Given the description of an element on the screen output the (x, y) to click on. 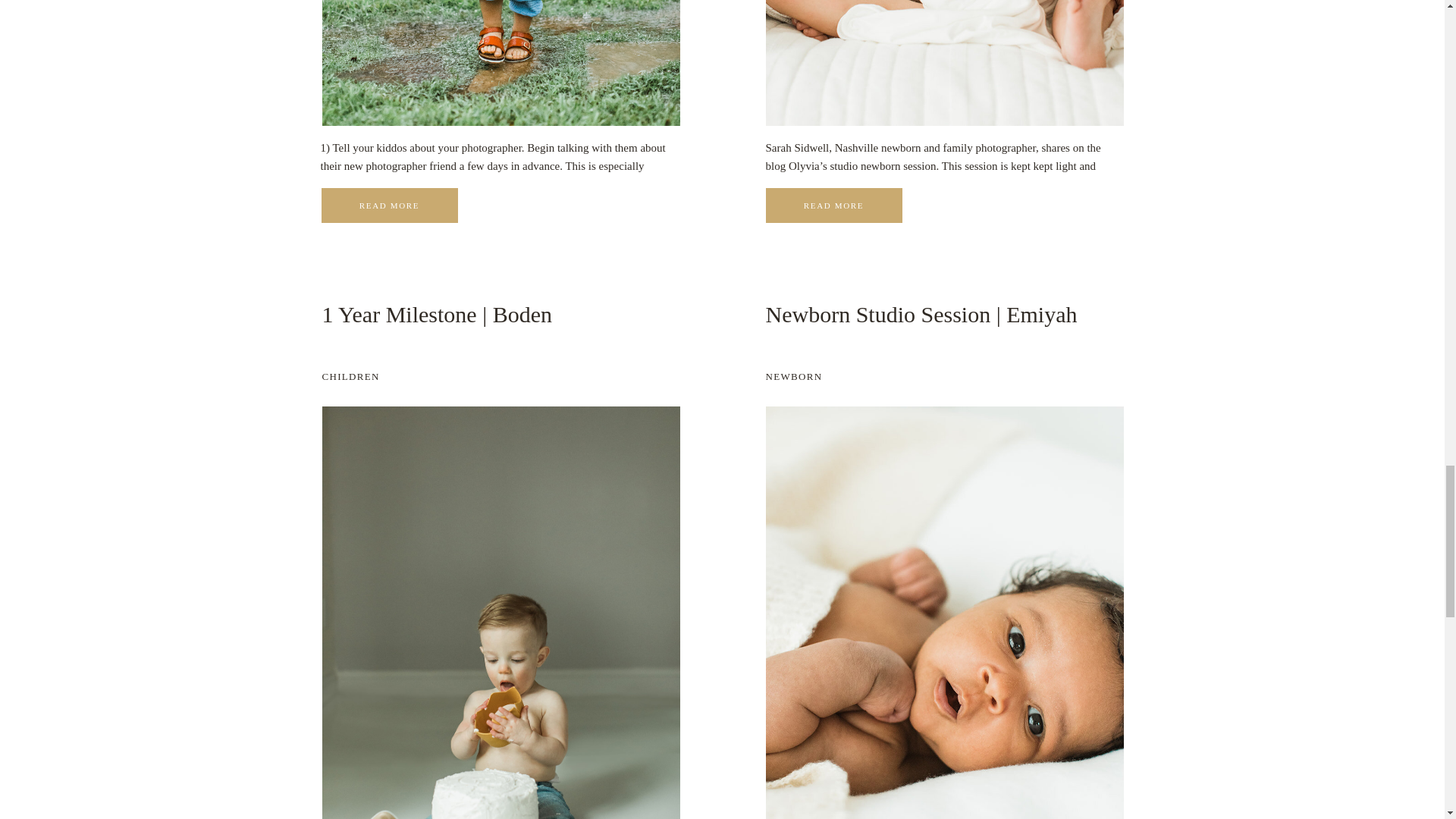
5 Tips to Help Prepare Your Kiddos For a Photo Session (389, 205)
READ MORE (389, 205)
5 Tips to Help Prepare Your Kiddos For a Photo Session (389, 205)
